Given the description of an element on the screen output the (x, y) to click on. 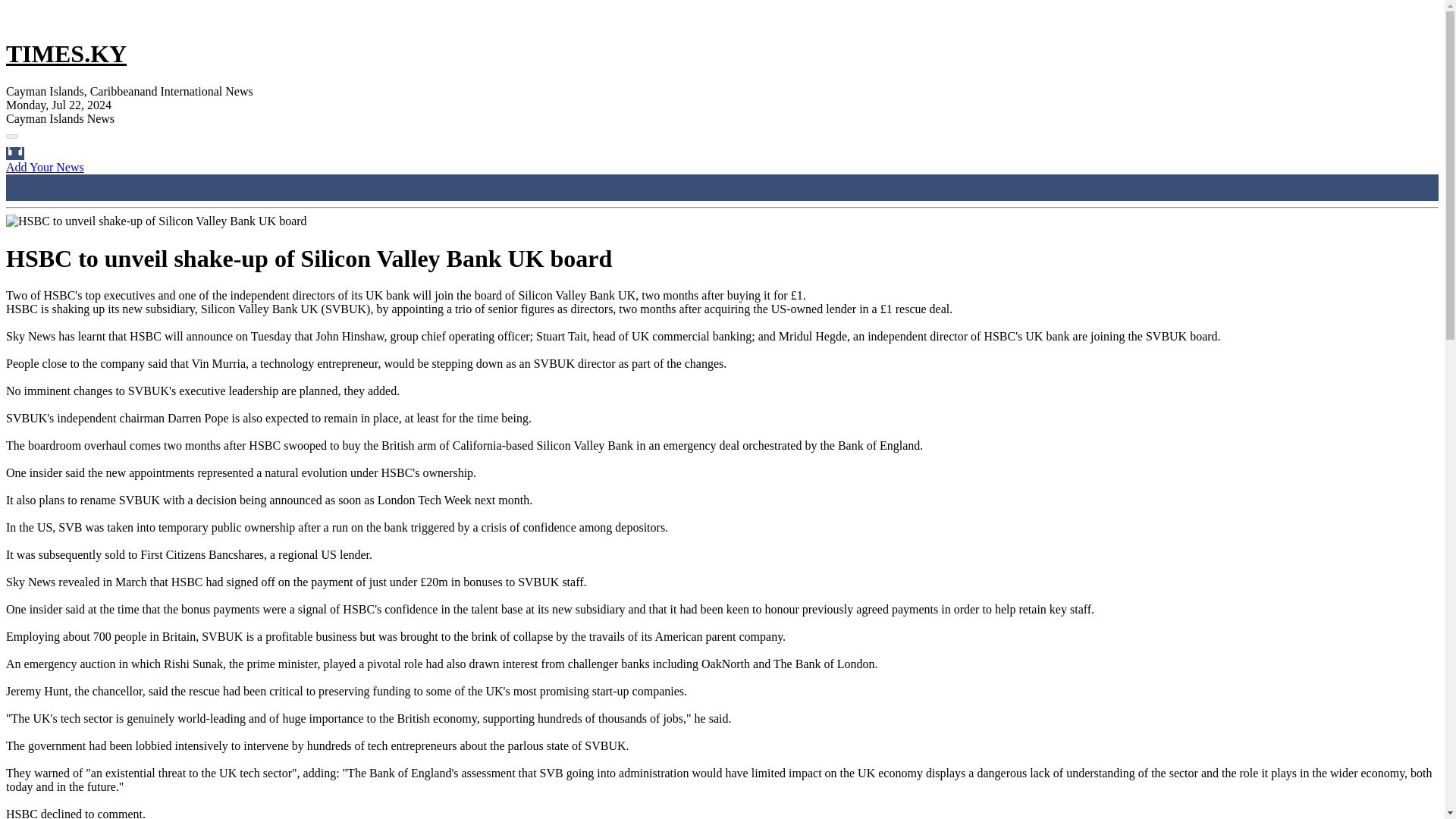
Add Your News (44, 166)
TIMES.KY (65, 53)
